Given the description of an element on the screen output the (x, y) to click on. 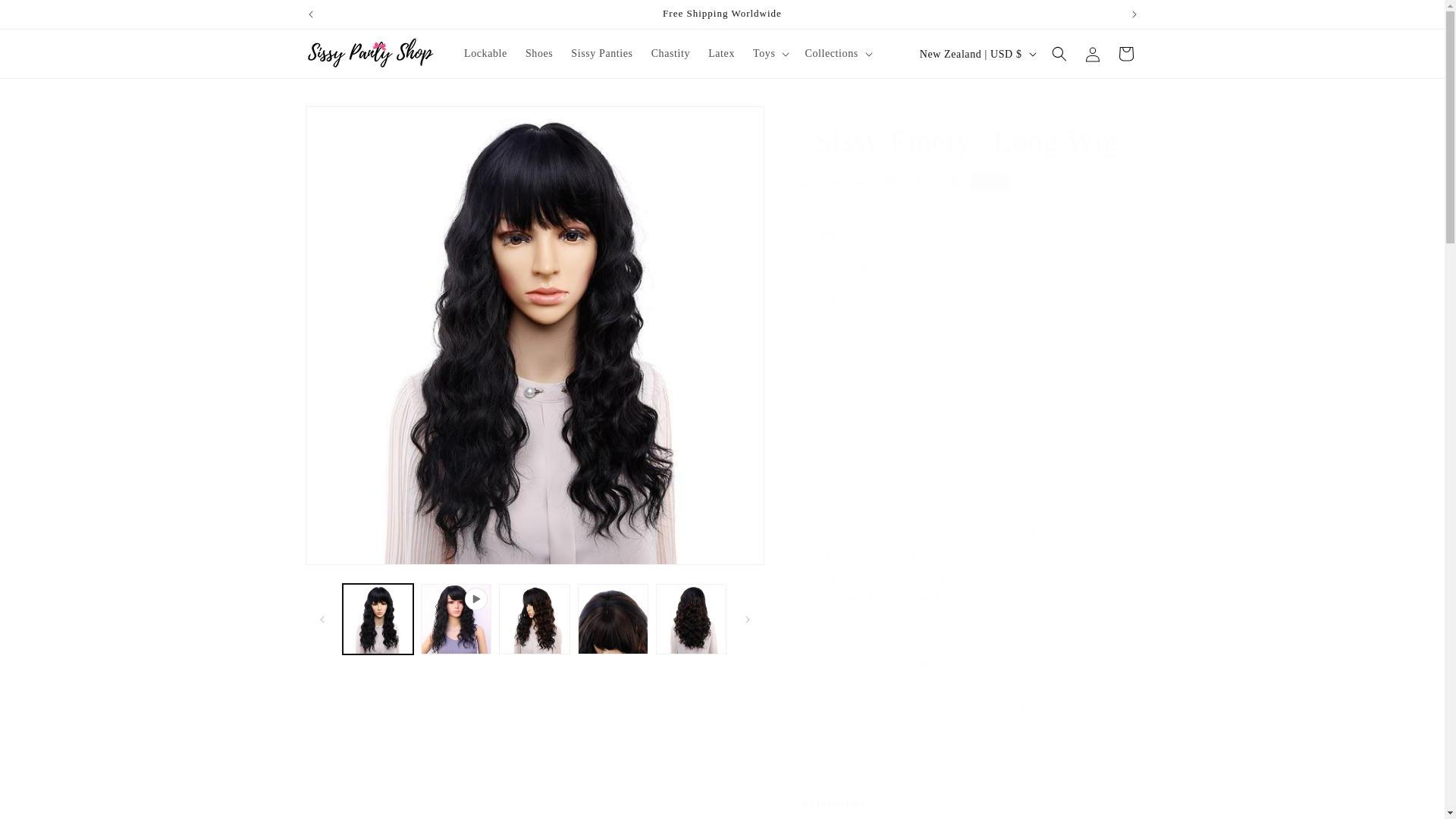
Skip to content (45, 17)
1 (856, 365)
